Given the description of an element on the screen output the (x, y) to click on. 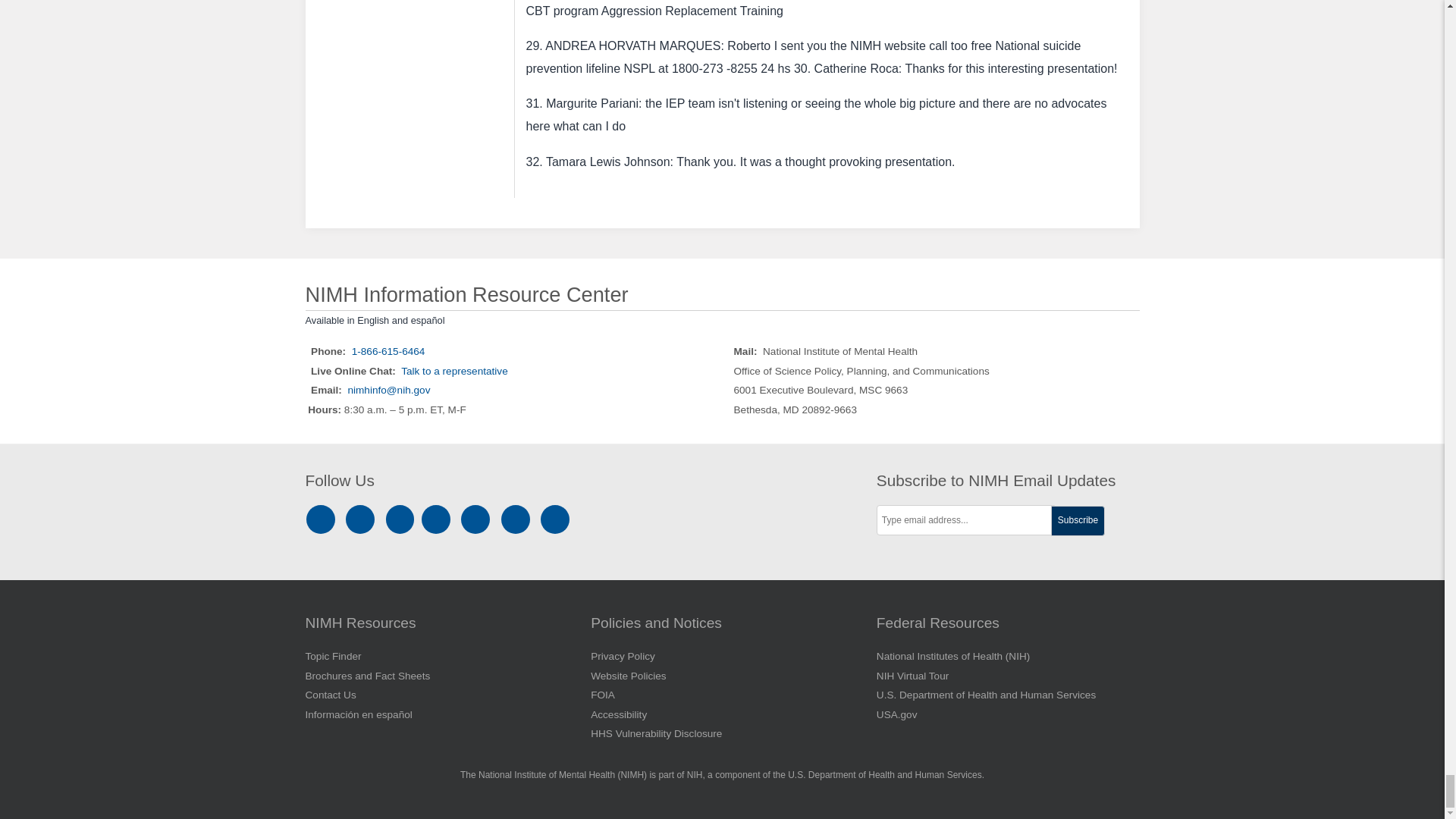
NIMH News Feeds (555, 519)
NIMH LinkedIn (402, 519)
NIMH Newsletters (515, 519)
NIMH Instagram (322, 519)
NIMH Twitter (438, 519)
NIMH Facebook (363, 519)
Subscribe (1078, 521)
NIMH YouTube (478, 519)
